Given the description of an element on the screen output the (x, y) to click on. 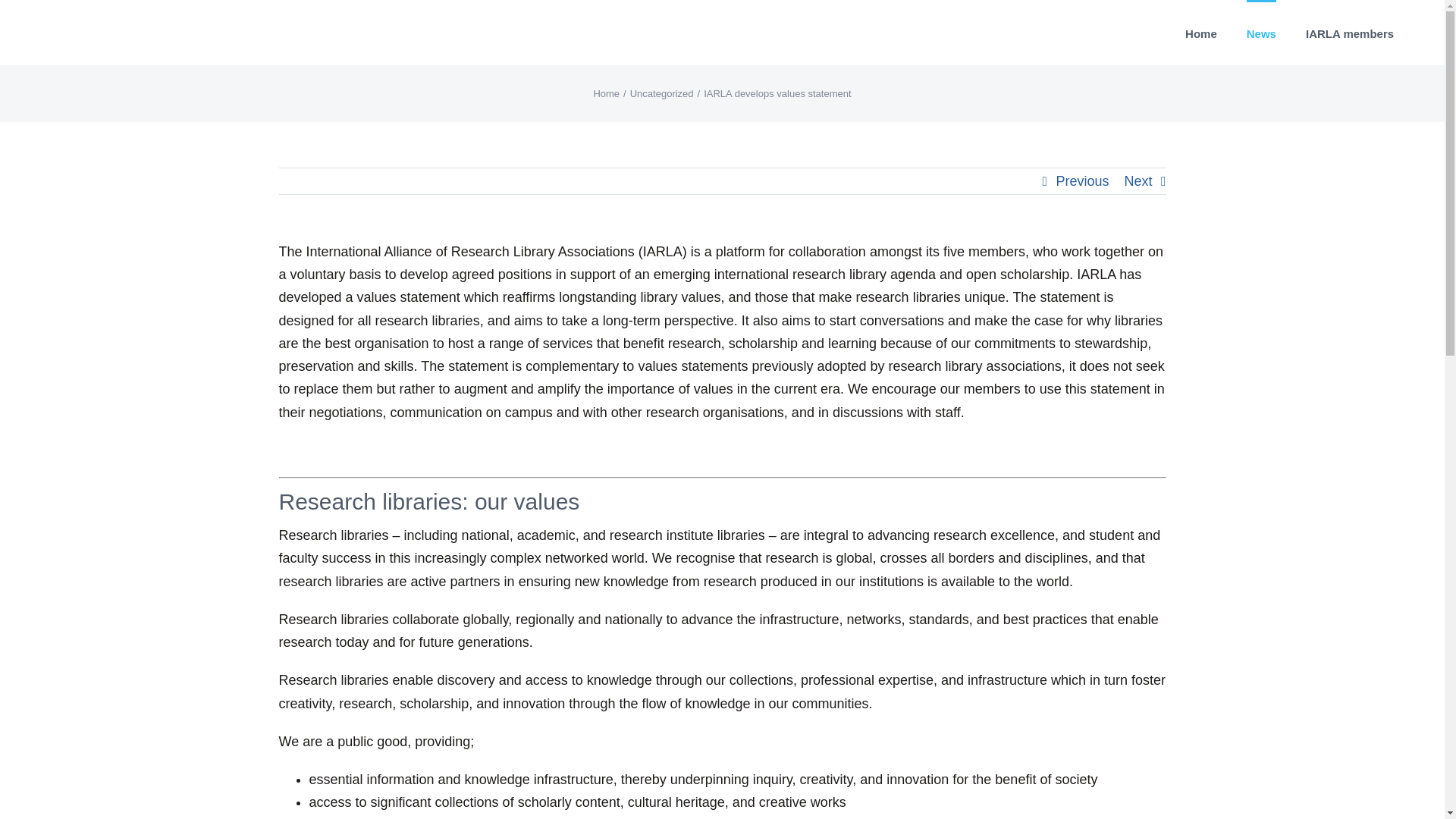
Home (606, 93)
Next (1137, 181)
Previous (1081, 181)
IARLA members (1349, 32)
Uncategorized (662, 93)
